Given the description of an element on the screen output the (x, y) to click on. 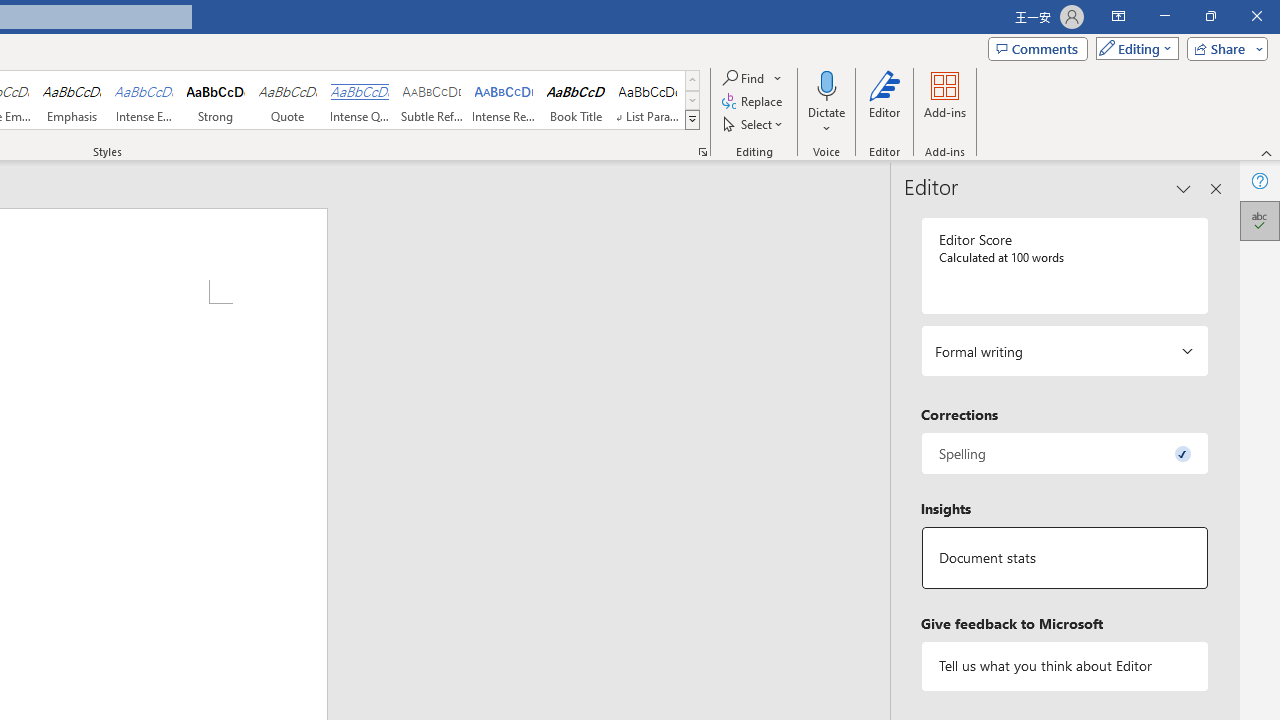
Emphasis (71, 100)
